Given the description of an element on the screen output the (x, y) to click on. 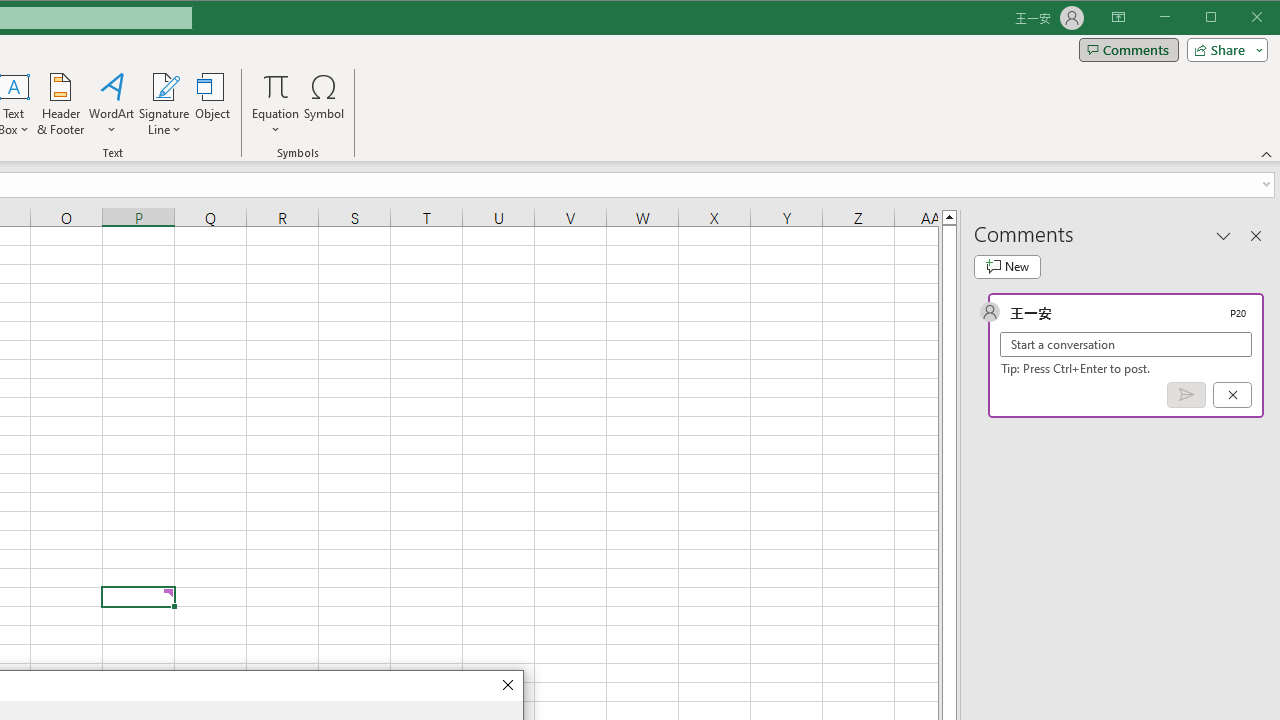
Equation (275, 104)
Start a conversation (1126, 344)
Equation (275, 86)
Symbol... (324, 104)
Post comment (Ctrl + Enter) (1186, 395)
Cancel (1232, 395)
New comment (1007, 266)
